Given the description of an element on the screen output the (x, y) to click on. 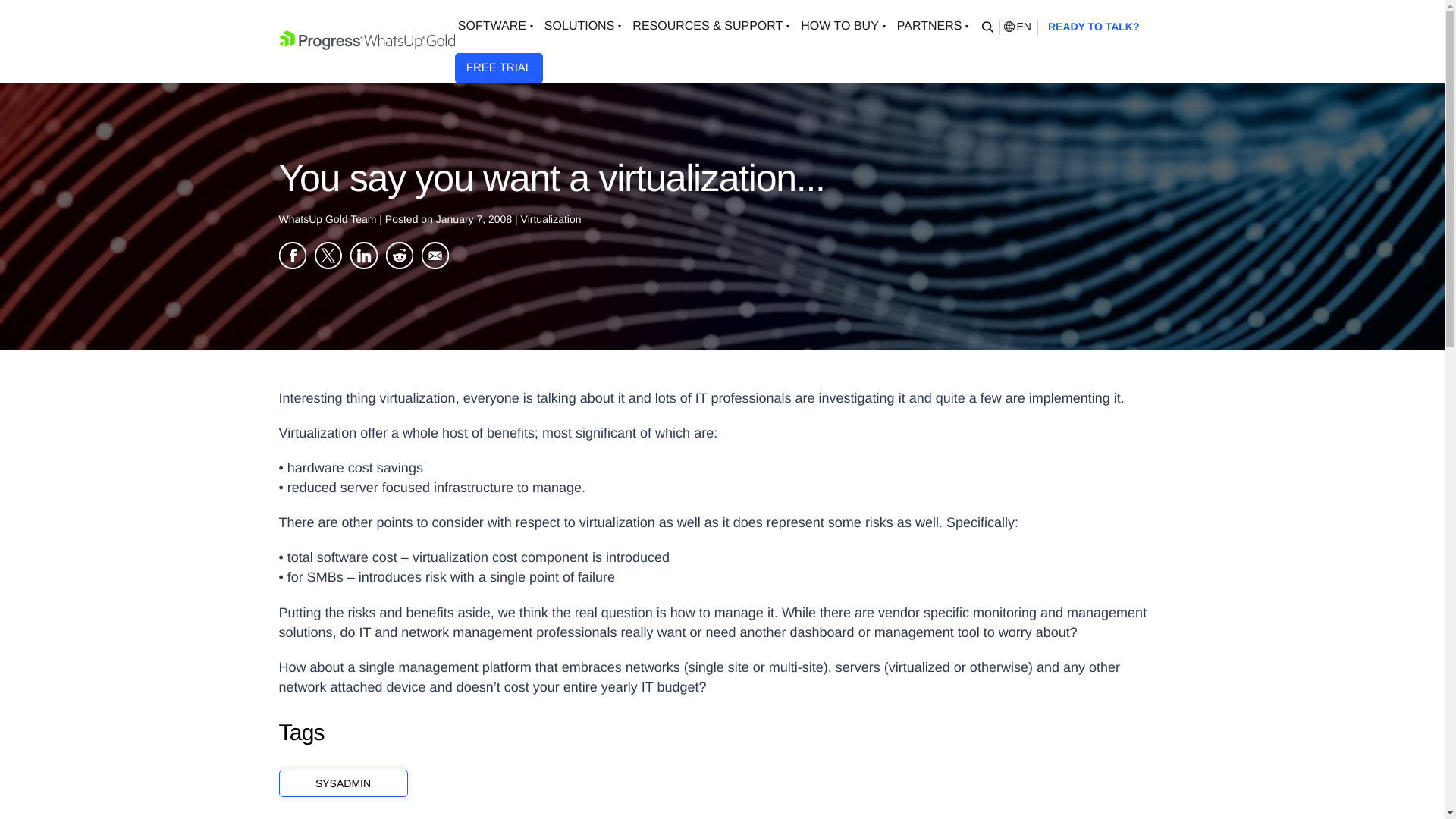
SKIP NAVIGATION (366, 40)
Facebook (292, 255)
SOLUTIONS (584, 26)
Reddit (399, 255)
SOFTWARE (497, 26)
Email (435, 255)
View all posts by WhatsUp Gold Team (329, 218)
Virtualization (550, 218)
Linkedin (363, 255)
